Given the description of an element on the screen output the (x, y) to click on. 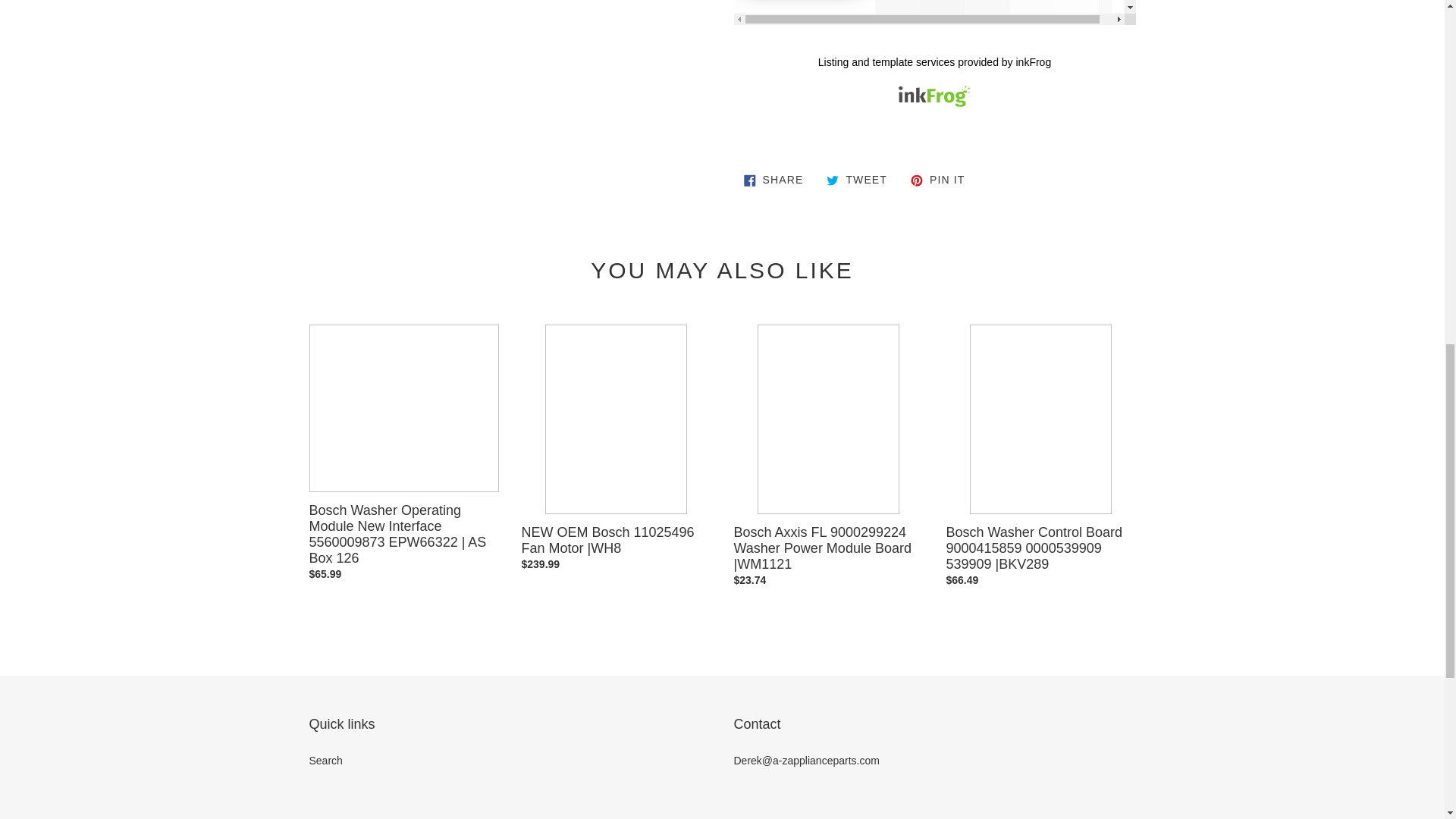
Listing and template services provided by inkFrog (934, 62)
Search (325, 760)
